Given the description of an element on the screen output the (x, y) to click on. 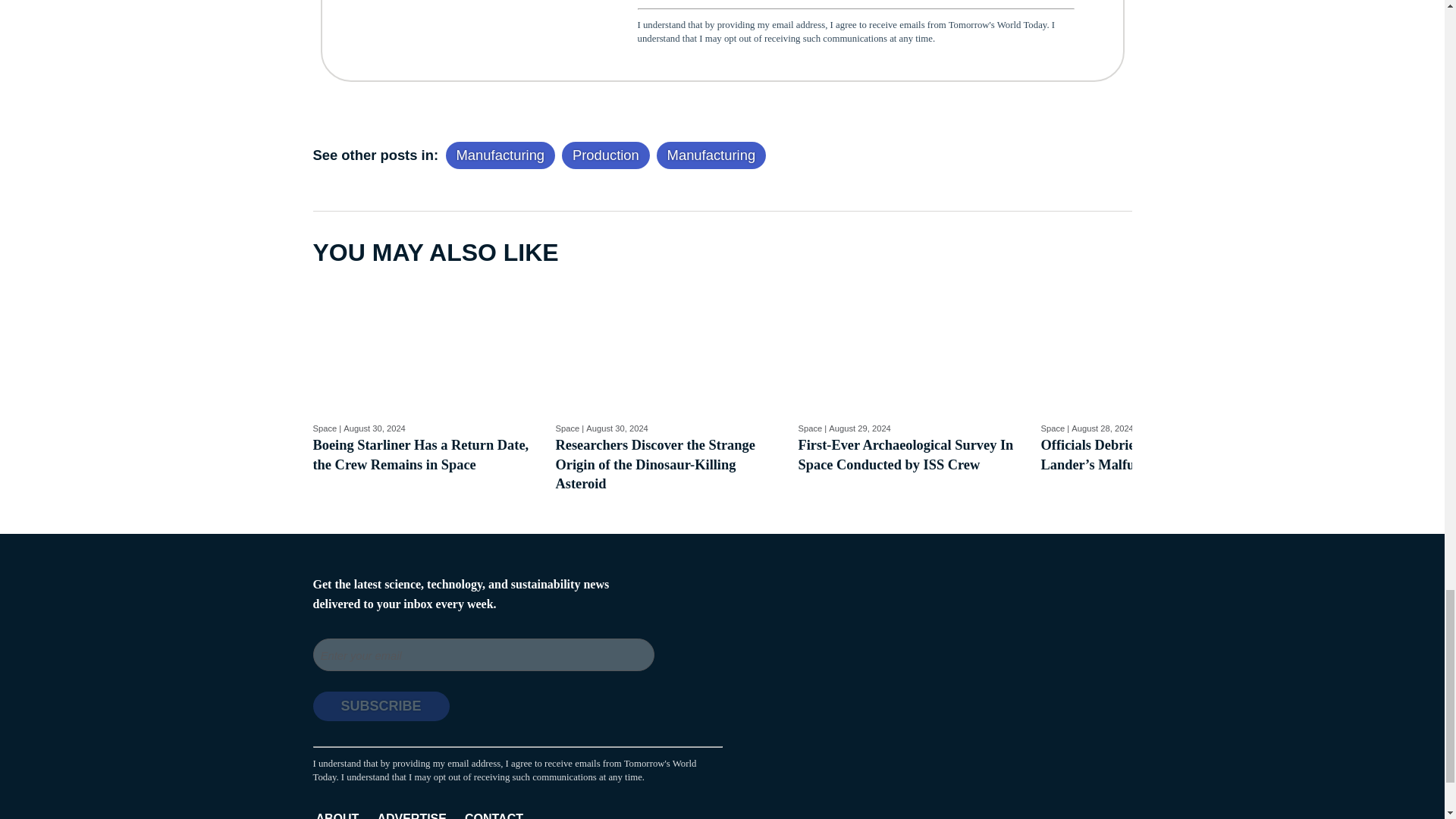
Space (566, 428)
Manufacturing (710, 155)
Subscribe (380, 706)
Space (324, 428)
Production (605, 155)
Manufacturing (374, 428)
